Given the description of an element on the screen output the (x, y) to click on. 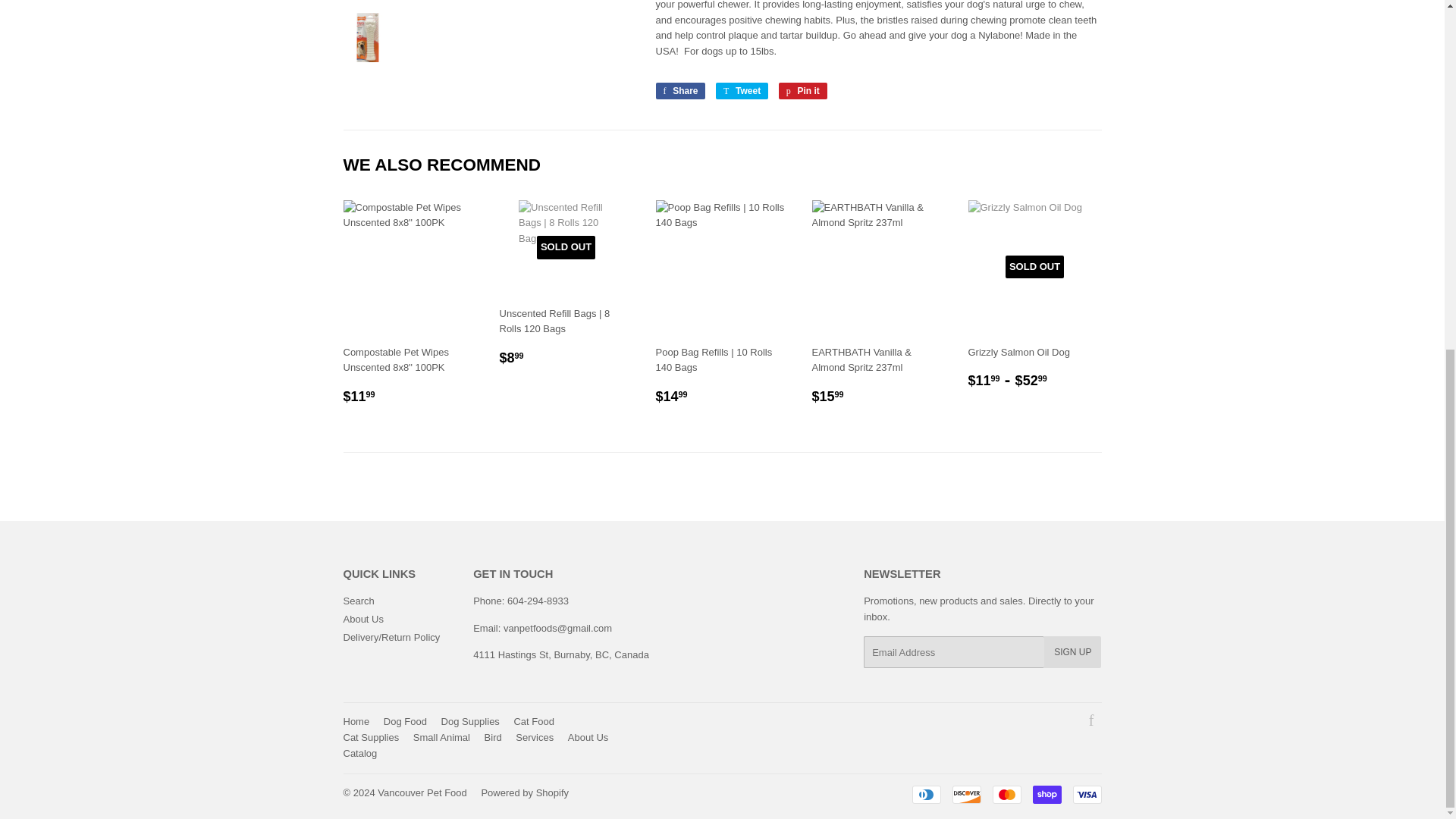
Pin on Pinterest (802, 90)
Shop Pay (1046, 794)
Mastercard (1005, 794)
Diners Club (925, 794)
Share on Facebook (679, 90)
Visa (1085, 794)
Tweet on Twitter (742, 90)
Discover (966, 794)
